Given the description of an element on the screen output the (x, y) to click on. 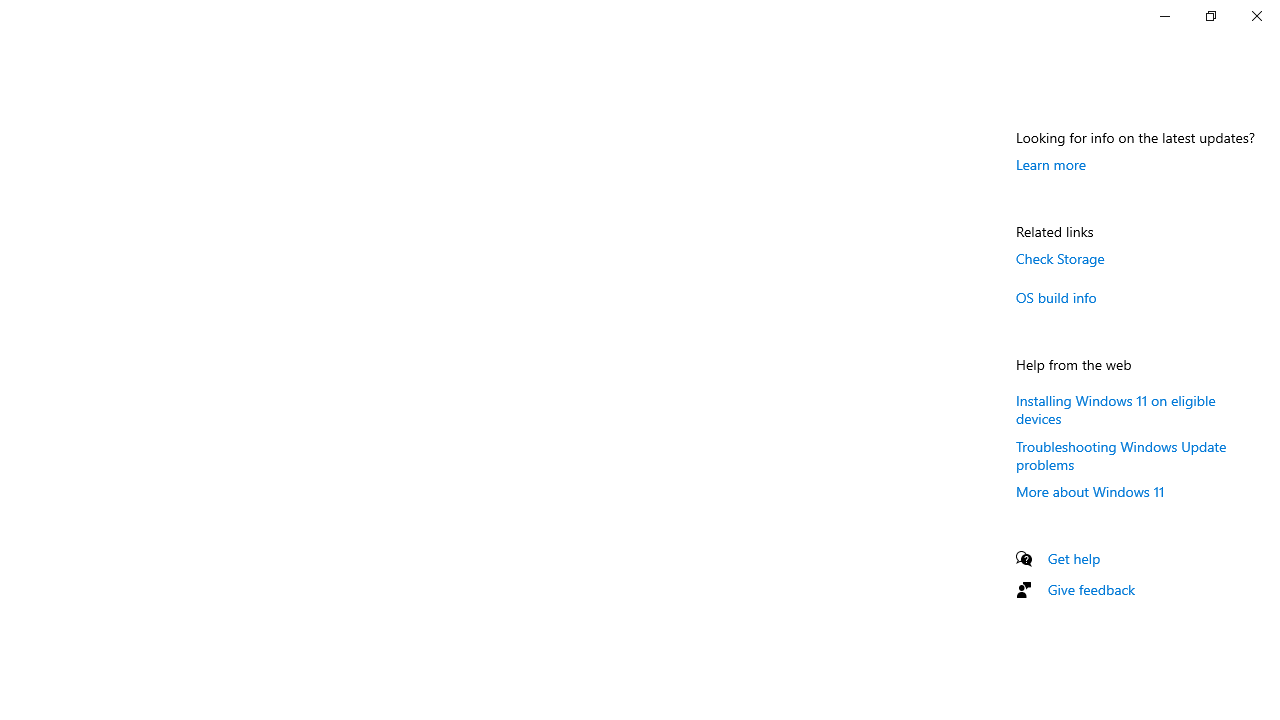
Get help (1074, 558)
Give feedback (1091, 589)
OS build info (1056, 297)
Installing Windows 11 on eligible devices (1116, 408)
More about Windows 11 (1090, 491)
Troubleshooting Windows Update problems (1121, 454)
Check Storage (1060, 258)
Learn more (1051, 164)
